Given the description of an element on the screen output the (x, y) to click on. 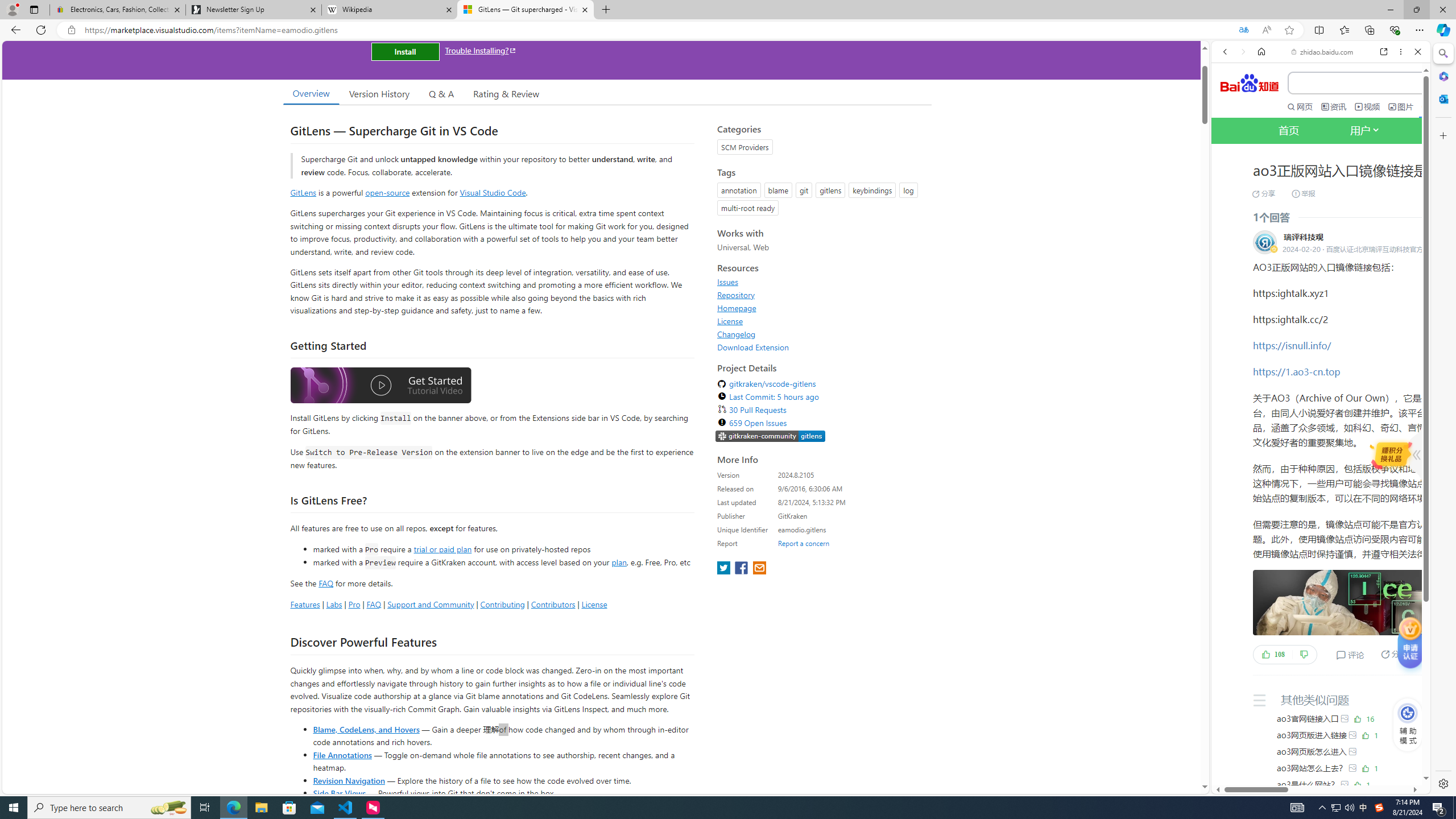
Split screen (1318, 29)
Favorites (1344, 29)
Class: reply-user-tohometip (1264, 241)
Labs (334, 603)
Close tab (584, 9)
SEARCH TOOLS (1350, 192)
WEB   (1230, 192)
Refresh (40, 29)
Contributors (552, 603)
Install (405, 51)
https://slack.gitkraken.com// (769, 436)
